Given the description of an element on the screen output the (x, y) to click on. 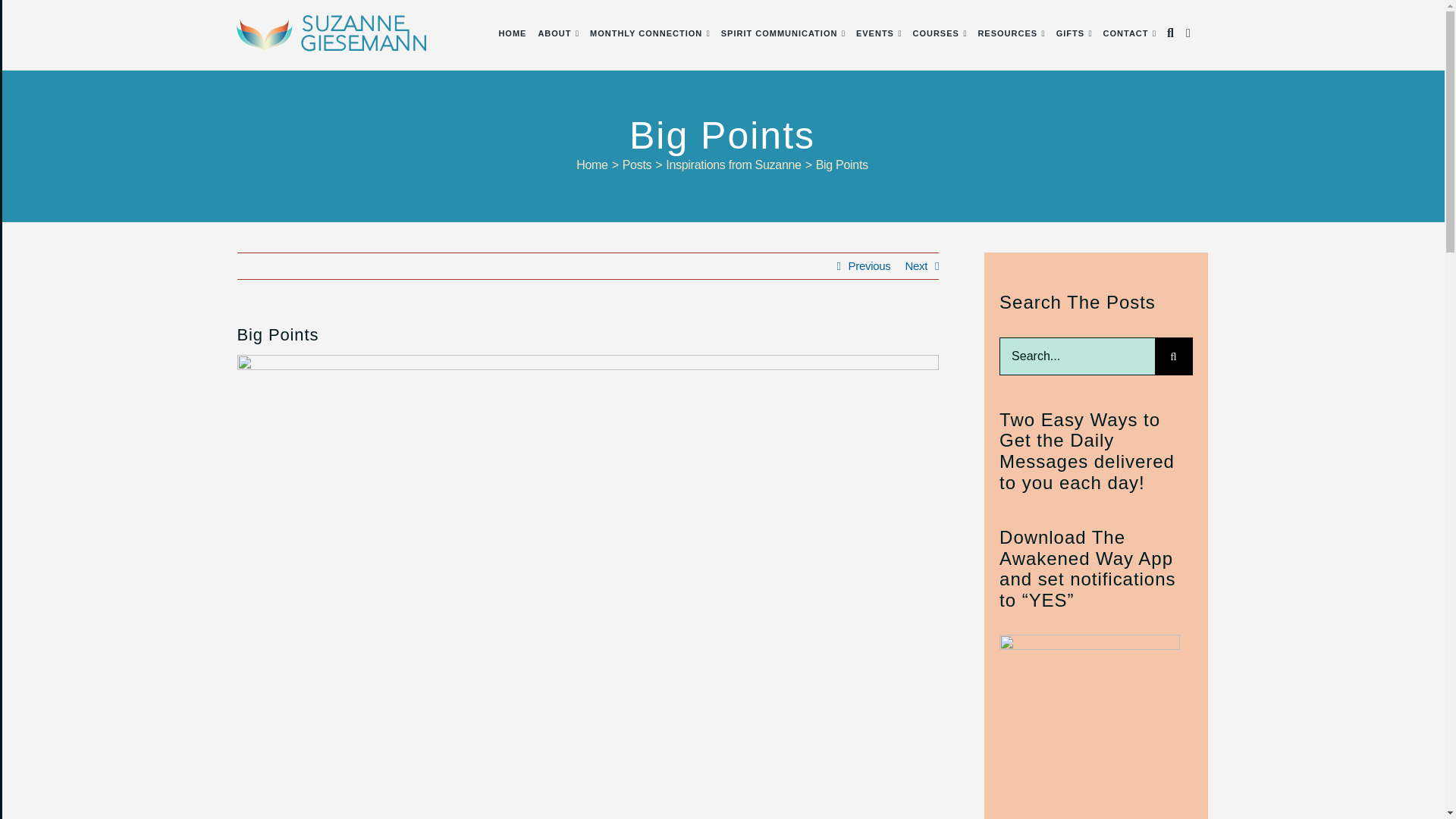
EVENTS (874, 33)
COURSES (935, 33)
sgsvg (330, 33)
SPIRIT COMMUNICATION (779, 33)
MONTHLY CONNECTION (645, 33)
HOME (511, 33)
ABOUT (553, 33)
